Given the description of an element on the screen output the (x, y) to click on. 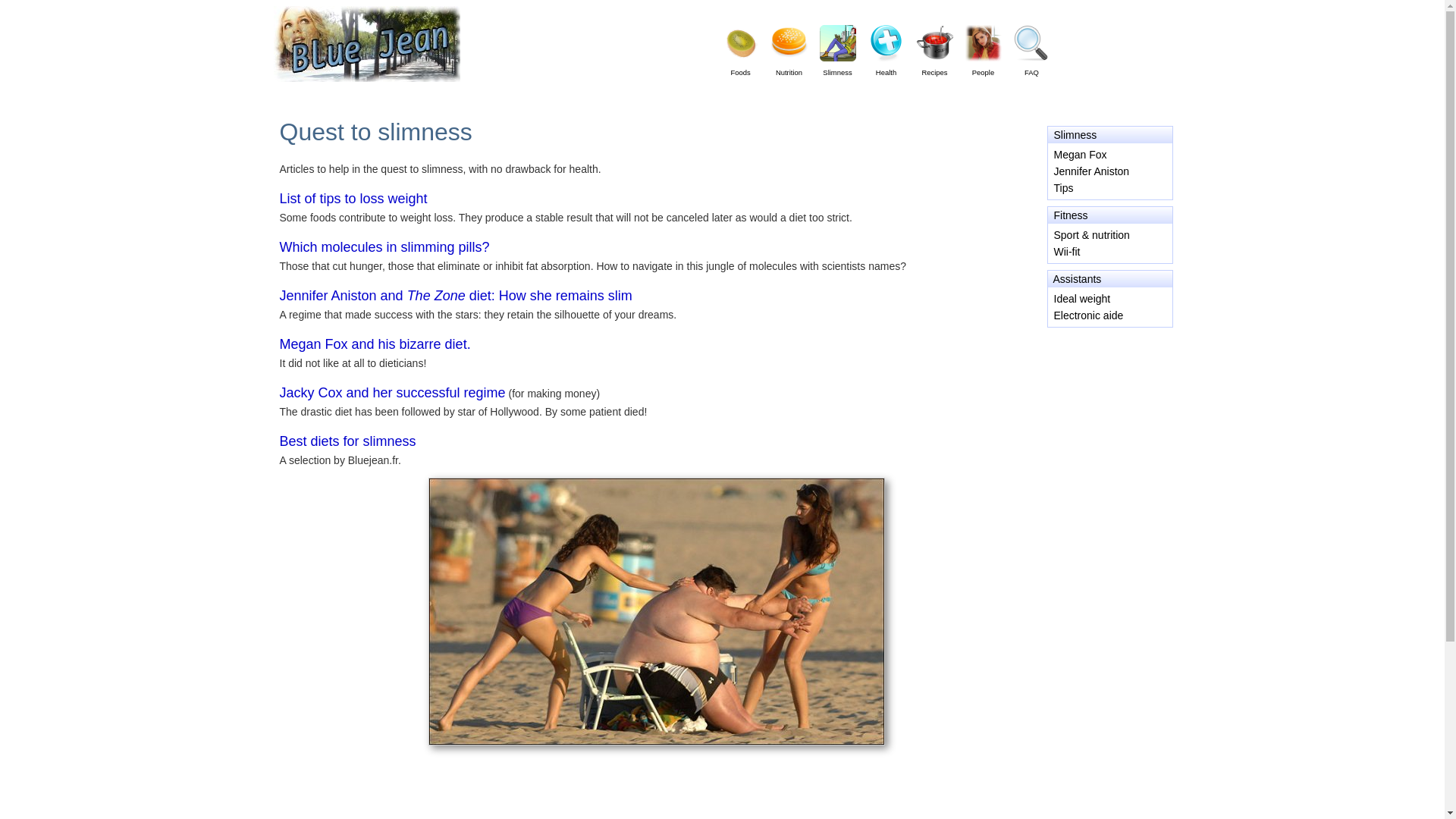
Slimness (1075, 134)
Health (885, 65)
Electronic aide (1089, 315)
Slimness (837, 65)
Ideal weight (1082, 298)
Which molecules in slimming pills? (384, 246)
Advertisement (661, 796)
Tips (1064, 187)
People (982, 65)
Jennifer Aniston and The Zone diet: How she remains slim (455, 295)
